Given the description of an element on the screen output the (x, y) to click on. 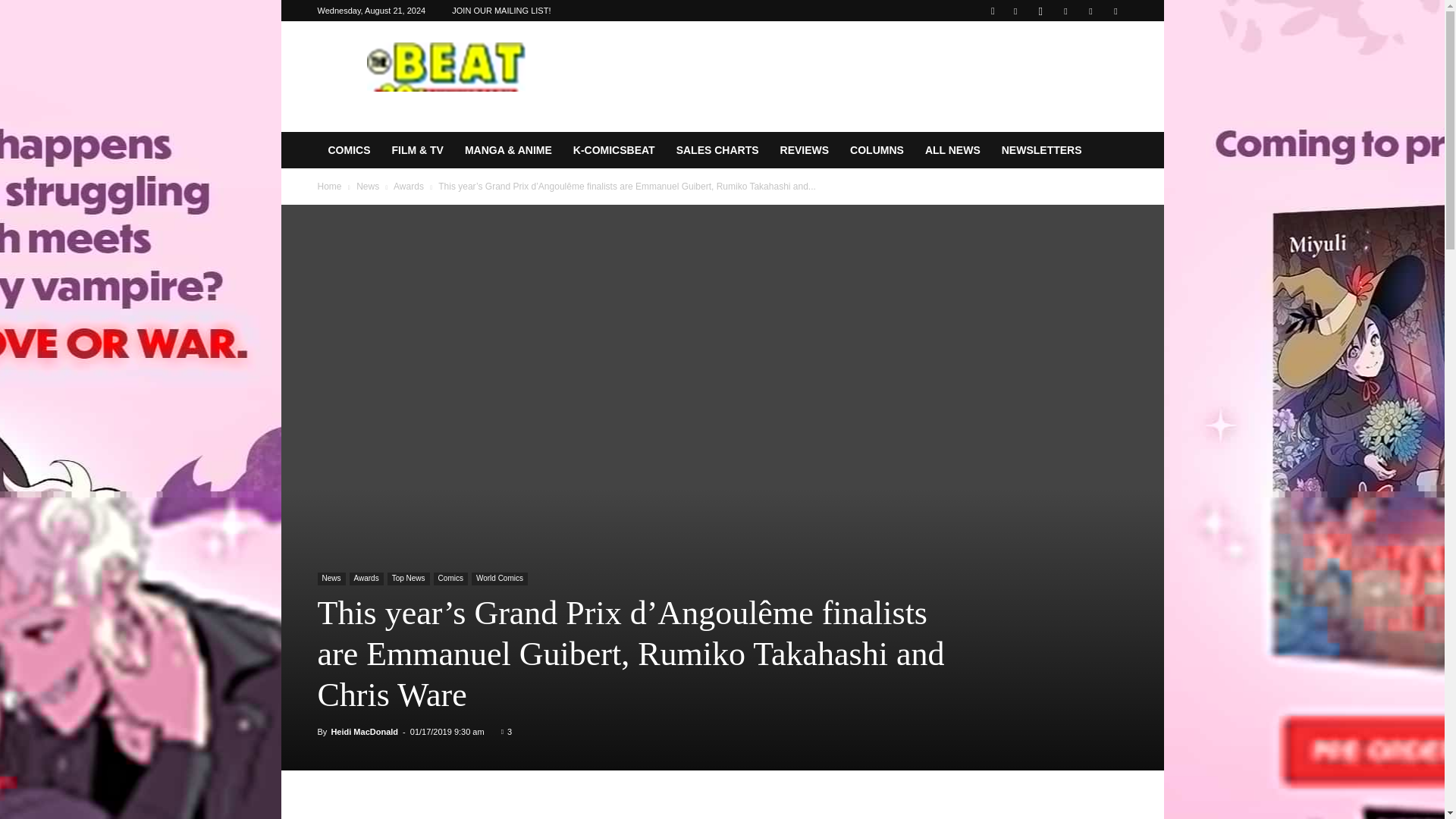
COLUMNS (877, 149)
Facebook (1015, 10)
Twitter (1090, 10)
K-COMICSBEAT (613, 149)
NEWSLETTERS (1042, 149)
Home (328, 185)
REVIEWS (805, 149)
Search (1085, 64)
SALES CHARTS (717, 149)
Youtube (1114, 10)
